Given the description of an element on the screen output the (x, y) to click on. 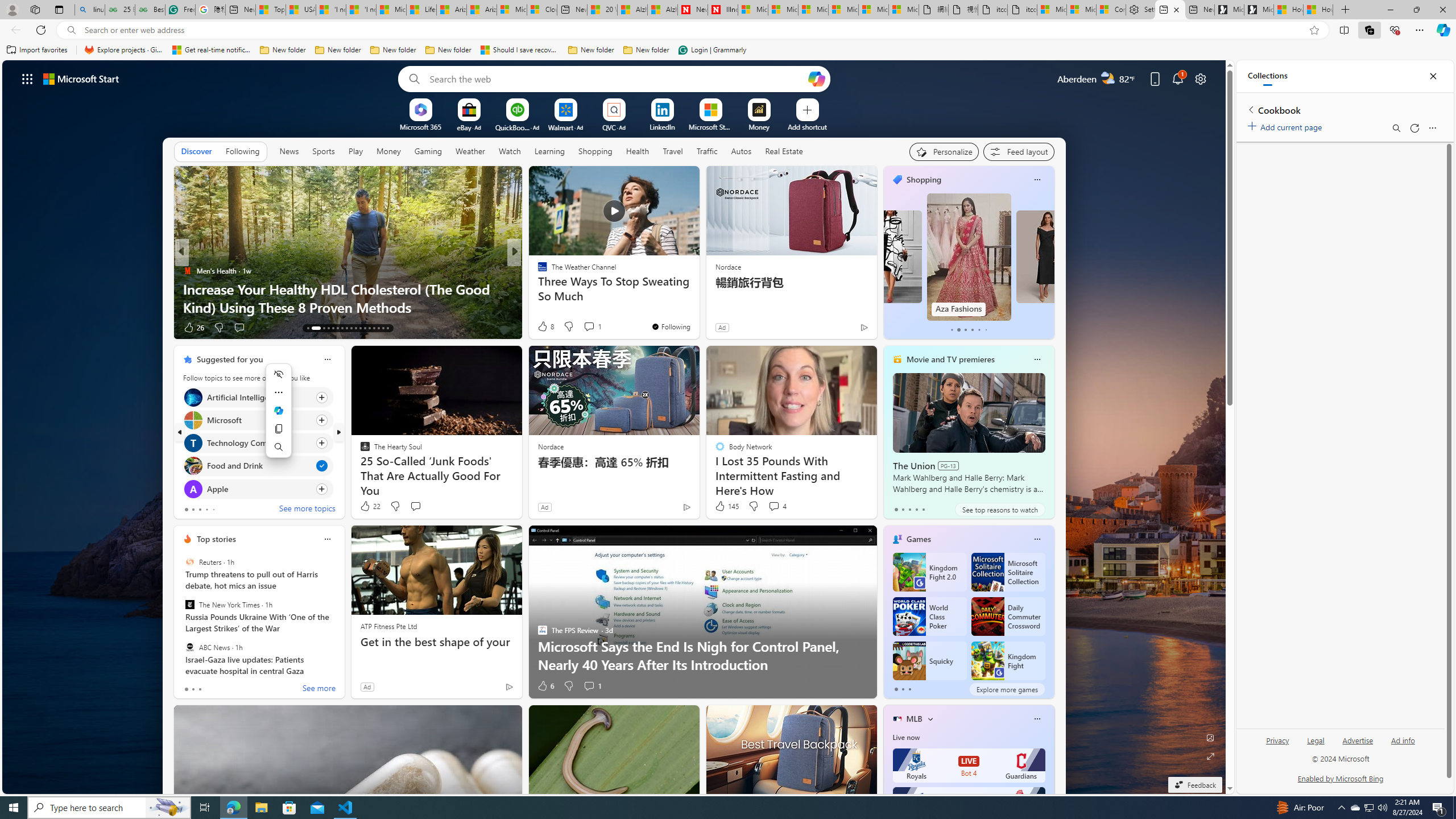
Games (917, 538)
147 Like (545, 327)
Expand background (1210, 756)
Autos (740, 151)
127 Like (545, 327)
AutomationID: tab-22 (355, 328)
next (338, 432)
Newsweek - News, Analysis, Politics, Business, Technology (691, 9)
Import favorites (36, 49)
